Given the description of an element on the screen output the (x, y) to click on. 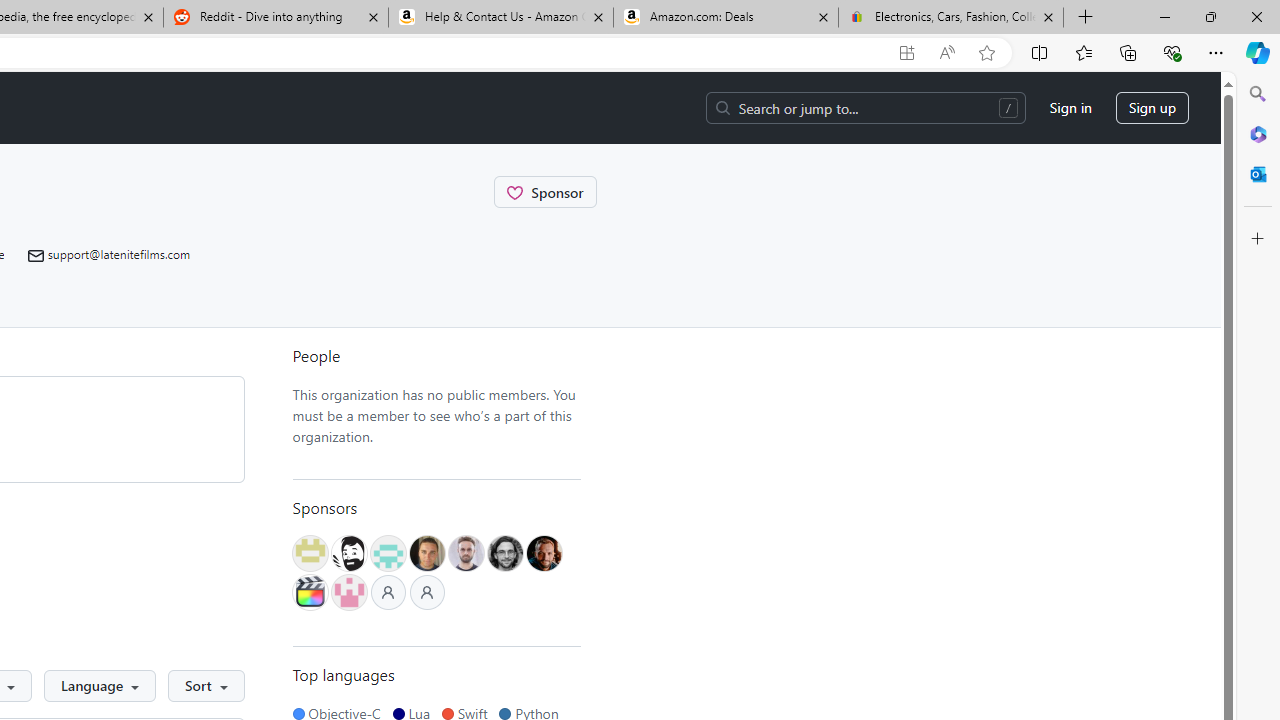
@davvidavvi (543, 552)
@elzotto (309, 592)
@lamer40 (427, 552)
@wtembundit (309, 552)
Sort (205, 686)
@MarcosCastiel (387, 552)
@jbrunson83 (349, 552)
